Given the description of an element on the screen output the (x, y) to click on. 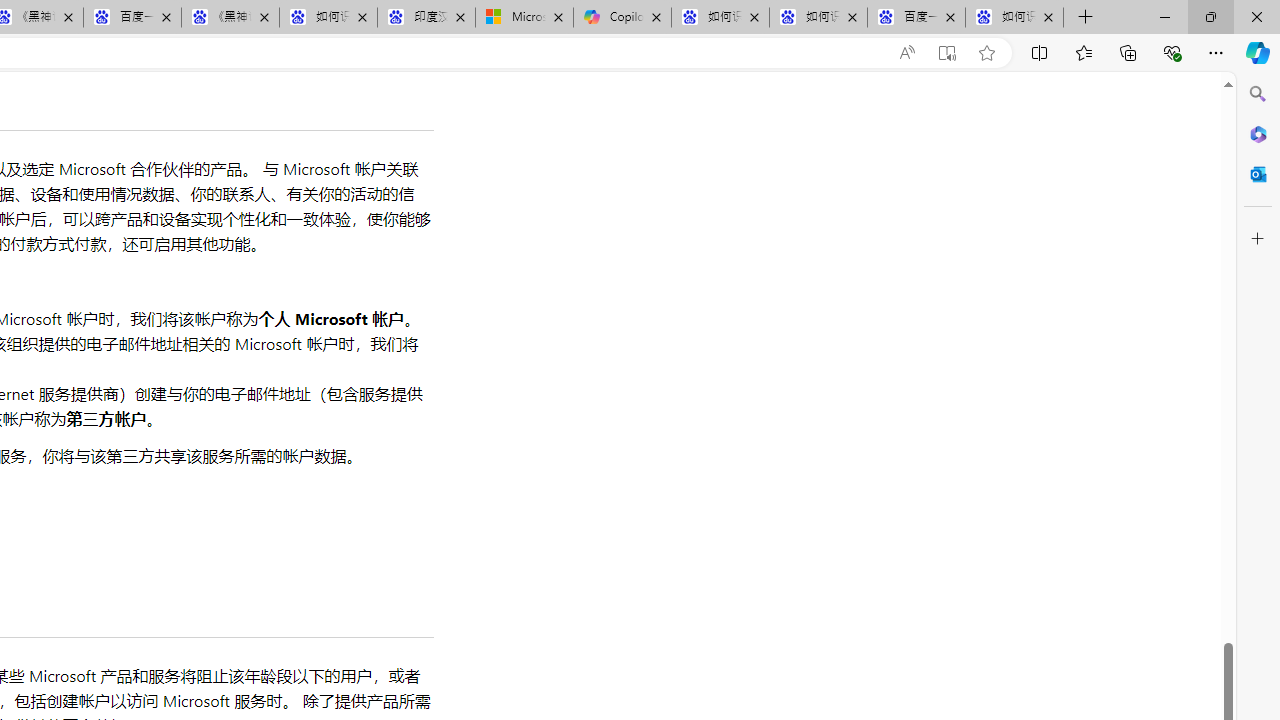
Copilot (621, 17)
